Given the description of an element on the screen output the (x, y) to click on. 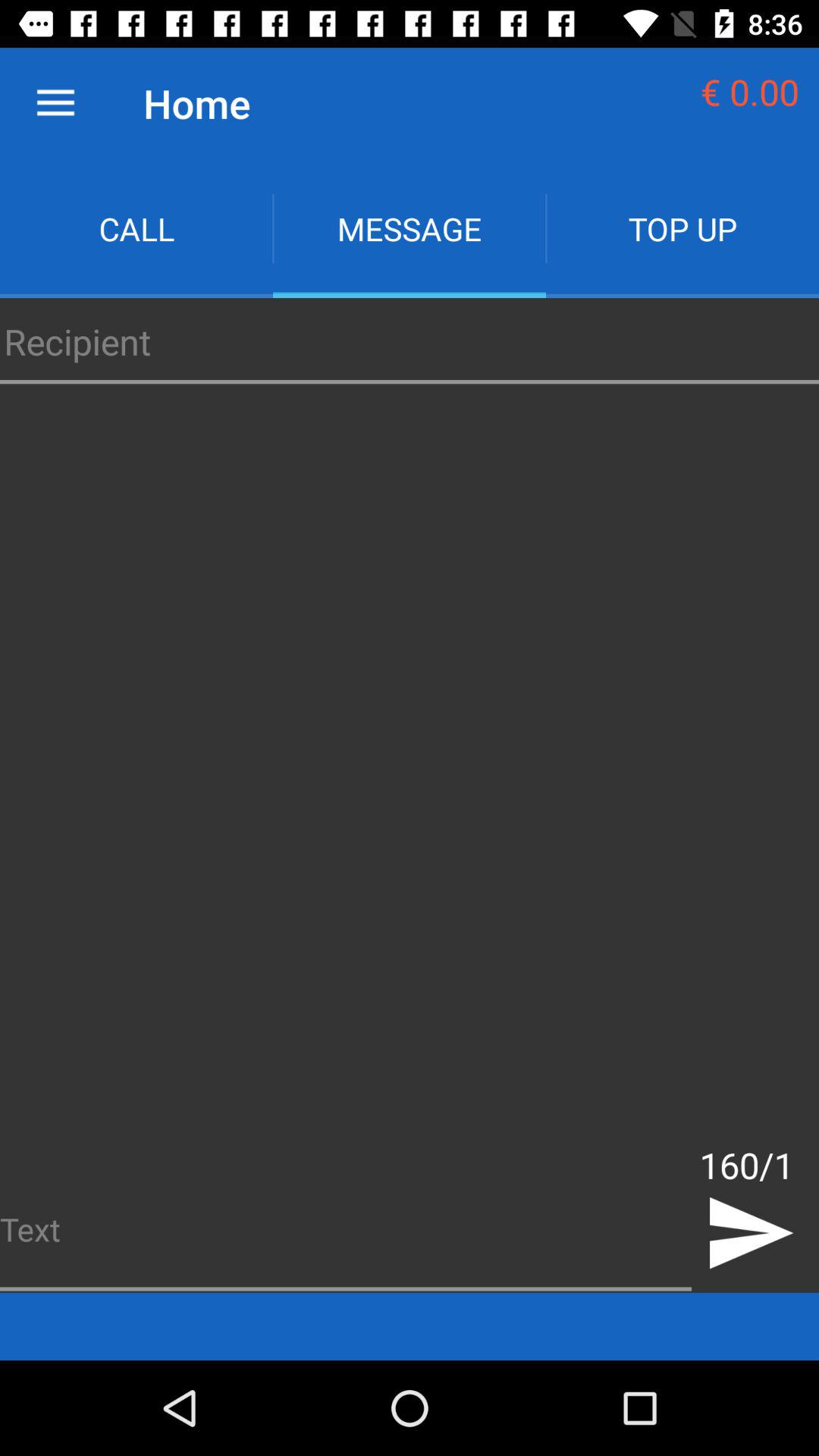
click app to the left of top up (409, 228)
